Given the description of an element on the screen output the (x, y) to click on. 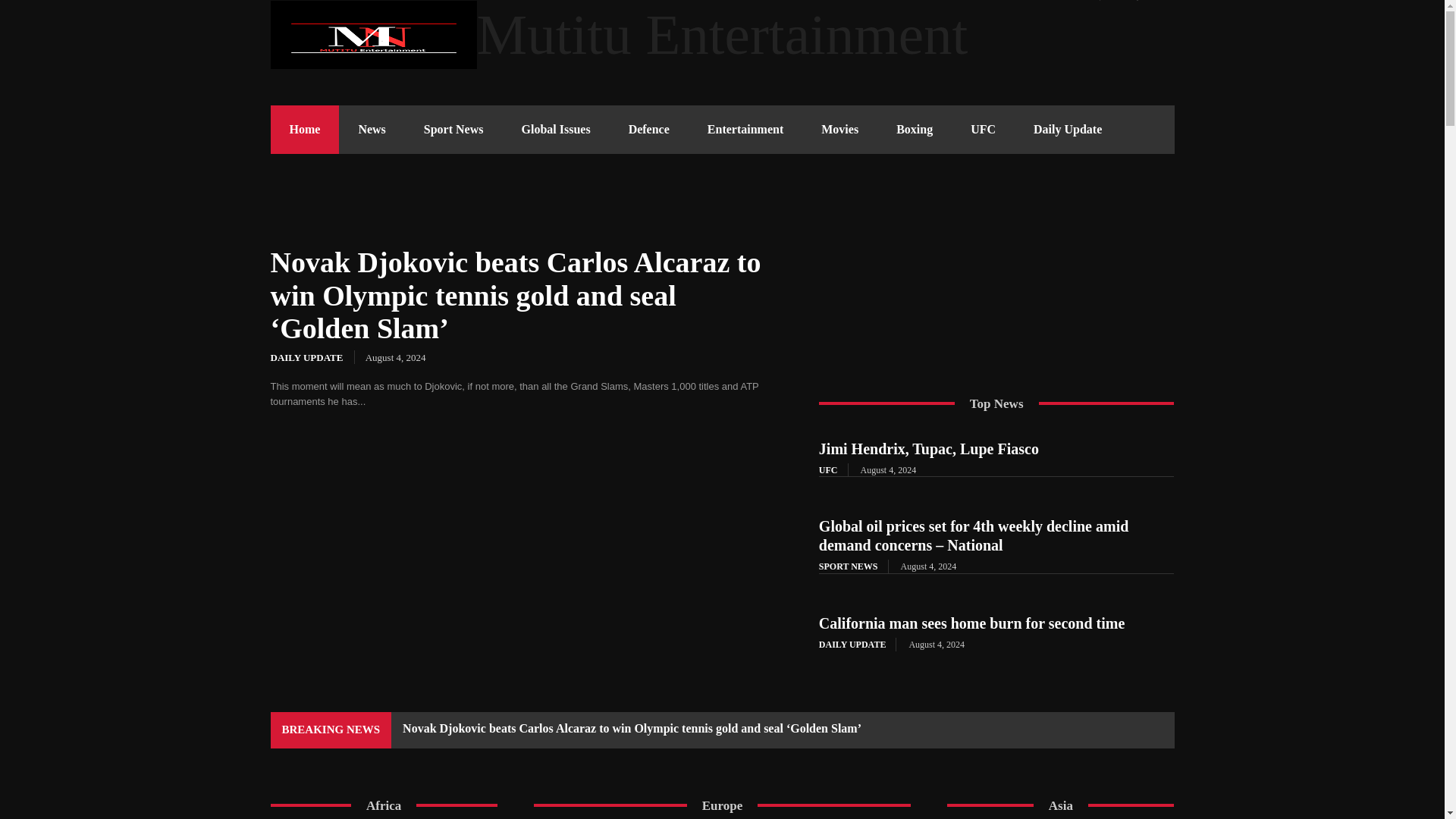
Boxing (914, 129)
Mutitu Entertainment (721, 34)
Global Issues (555, 129)
Jimi Hendrix, Tupac, Lupe Fiasco (928, 448)
Defence (649, 129)
UFC (983, 129)
Entertainment (745, 129)
Home (304, 129)
News (371, 129)
Sport News (453, 129)
Movies (839, 129)
